Given the description of an element on the screen output the (x, y) to click on. 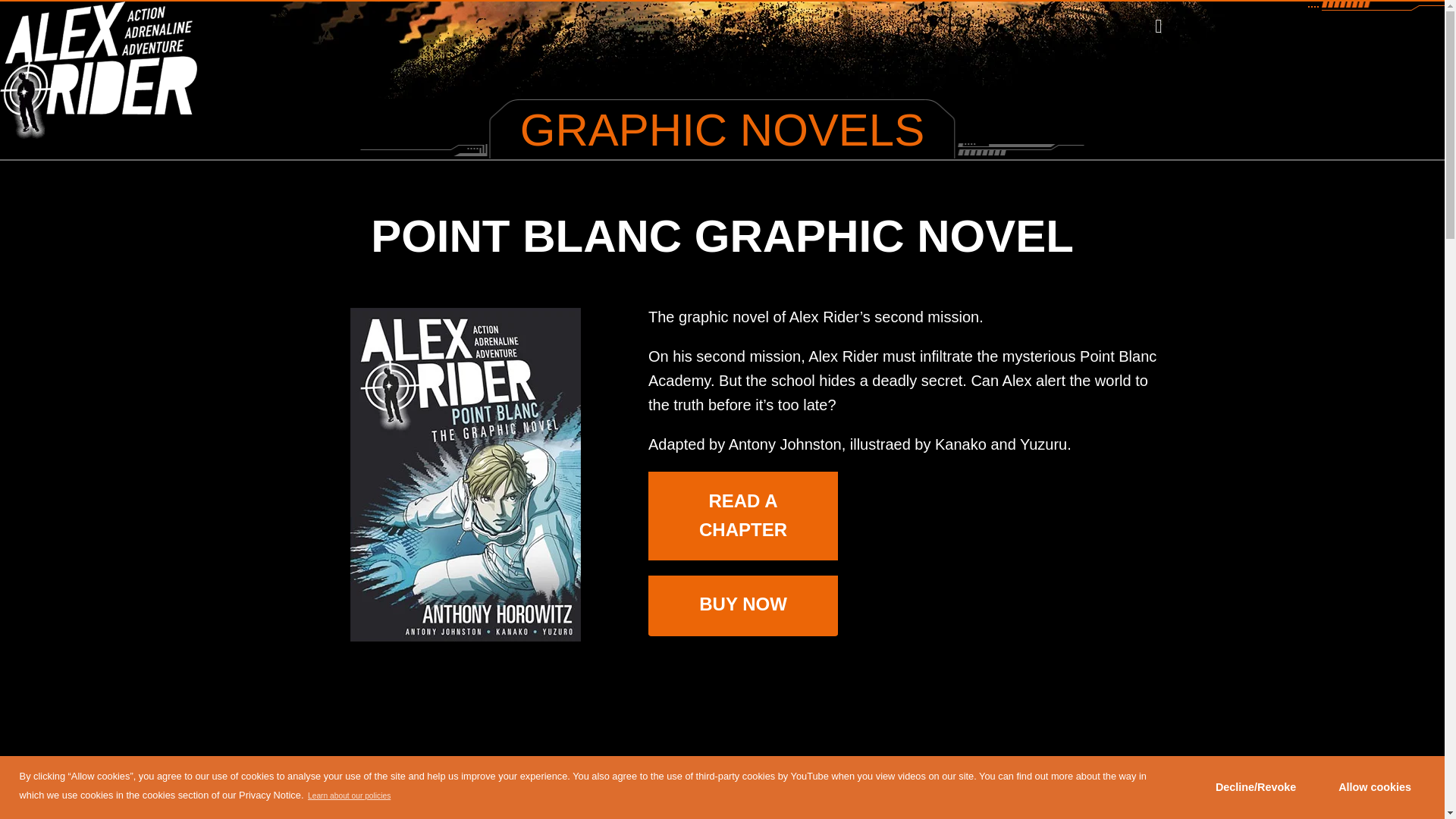
AMAZON (742, 655)
Allow cookies (1374, 787)
READ A CHAPTER (742, 515)
Learn about our policies (348, 795)
BUY NOW (742, 604)
